Given the description of an element on the screen output the (x, y) to click on. 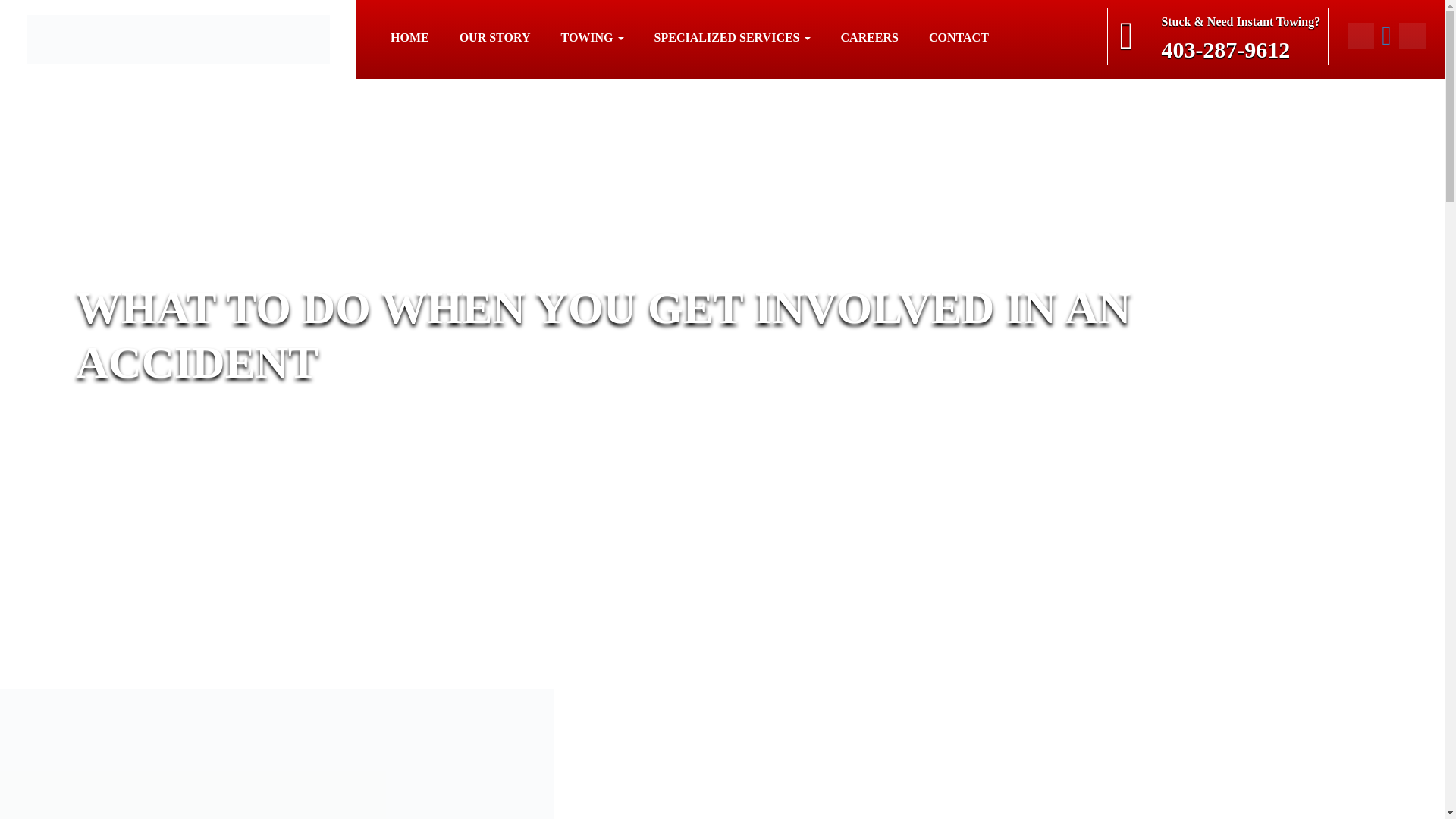
CAREERS (869, 37)
TOWING (592, 37)
CONTACT (958, 37)
HOME (409, 37)
OUR STORY (495, 37)
SPECIALIZED SERVICES (731, 37)
403-287-9612 (1240, 50)
